Given the description of an element on the screen output the (x, y) to click on. 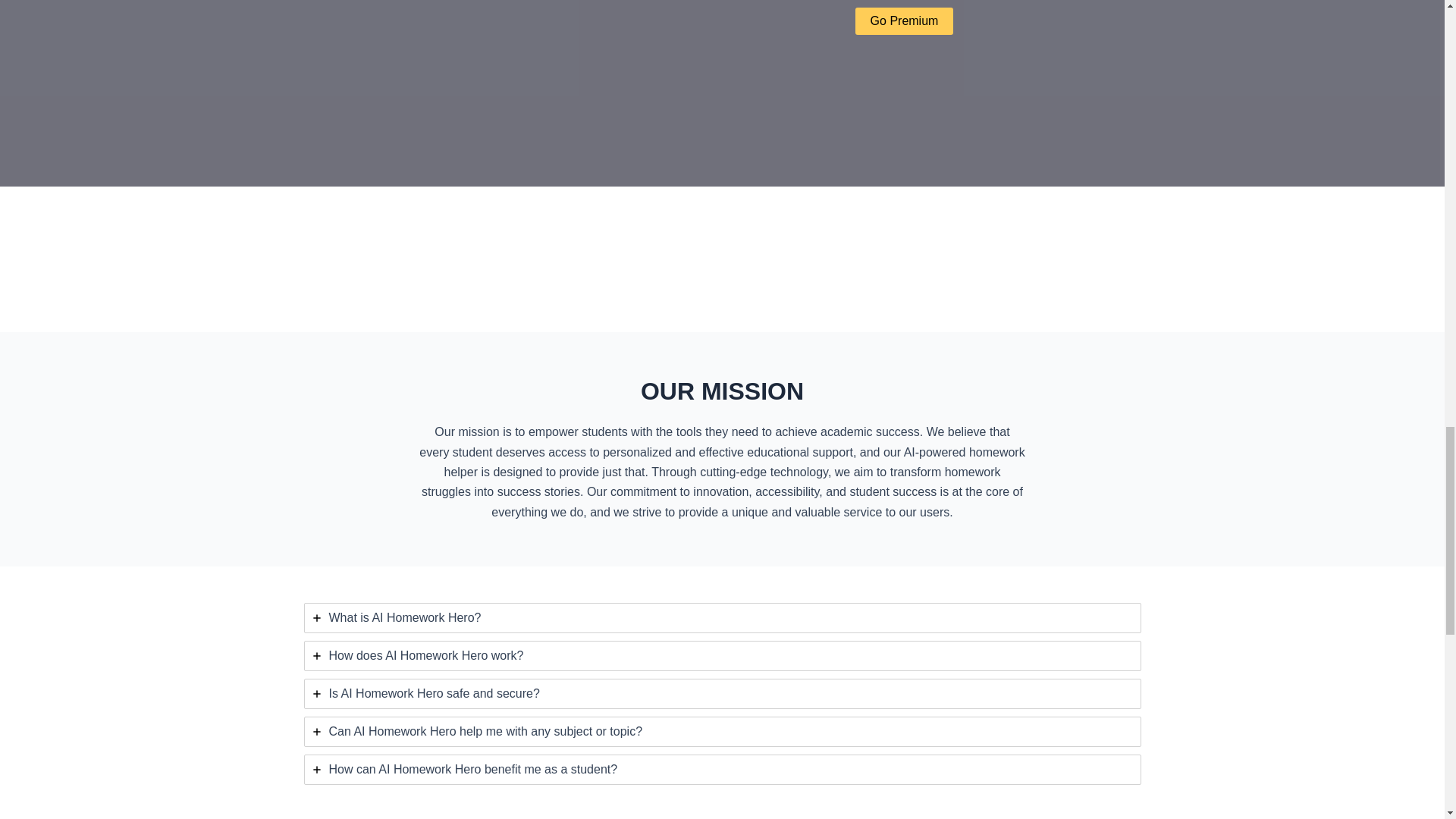
Go Premium (904, 21)
